Given the description of an element on the screen output the (x, y) to click on. 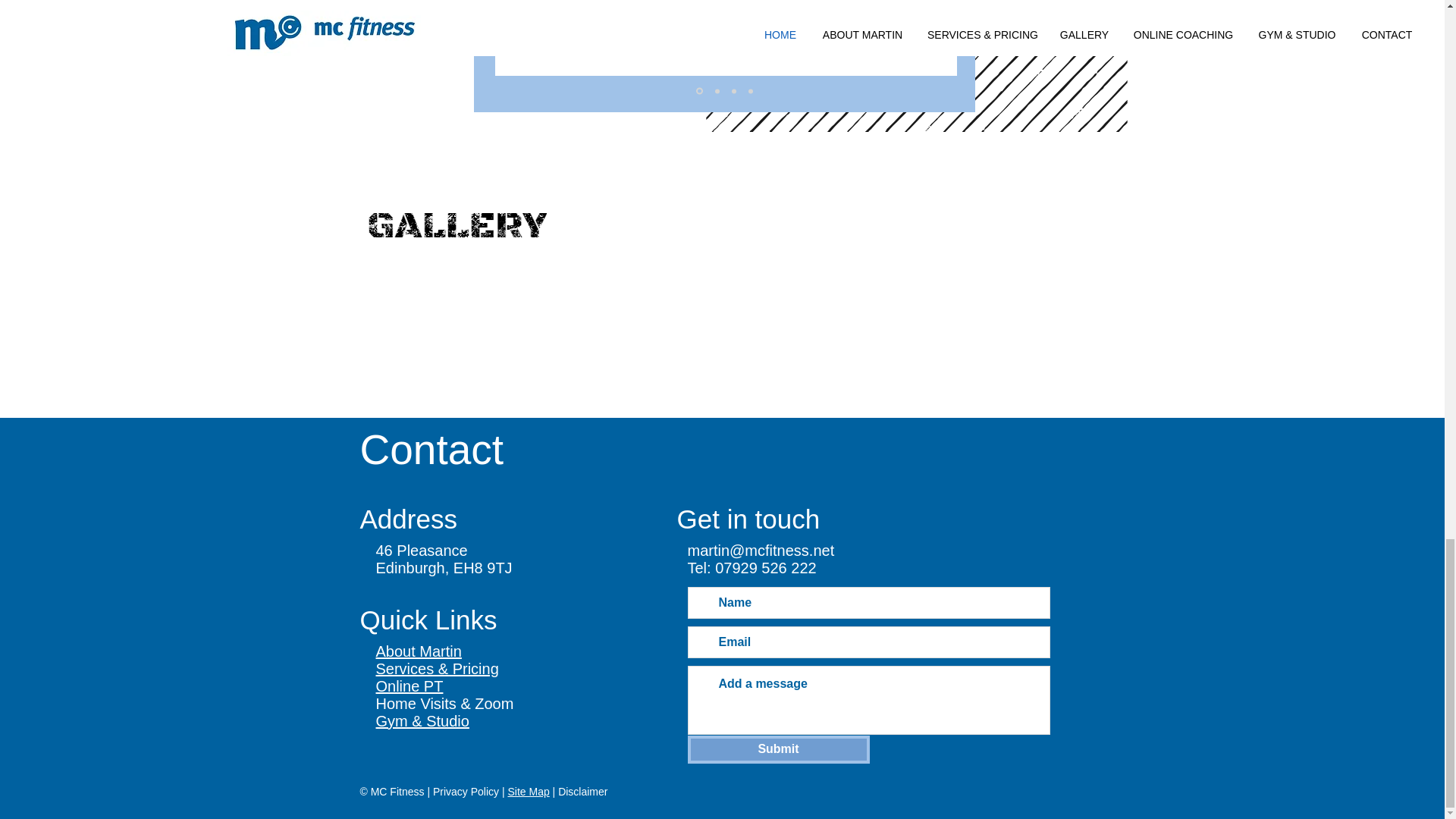
Online PT (409, 686)
Submit (778, 749)
About Martin (418, 651)
Site Map (527, 791)
